Given the description of an element on the screen output the (x, y) to click on. 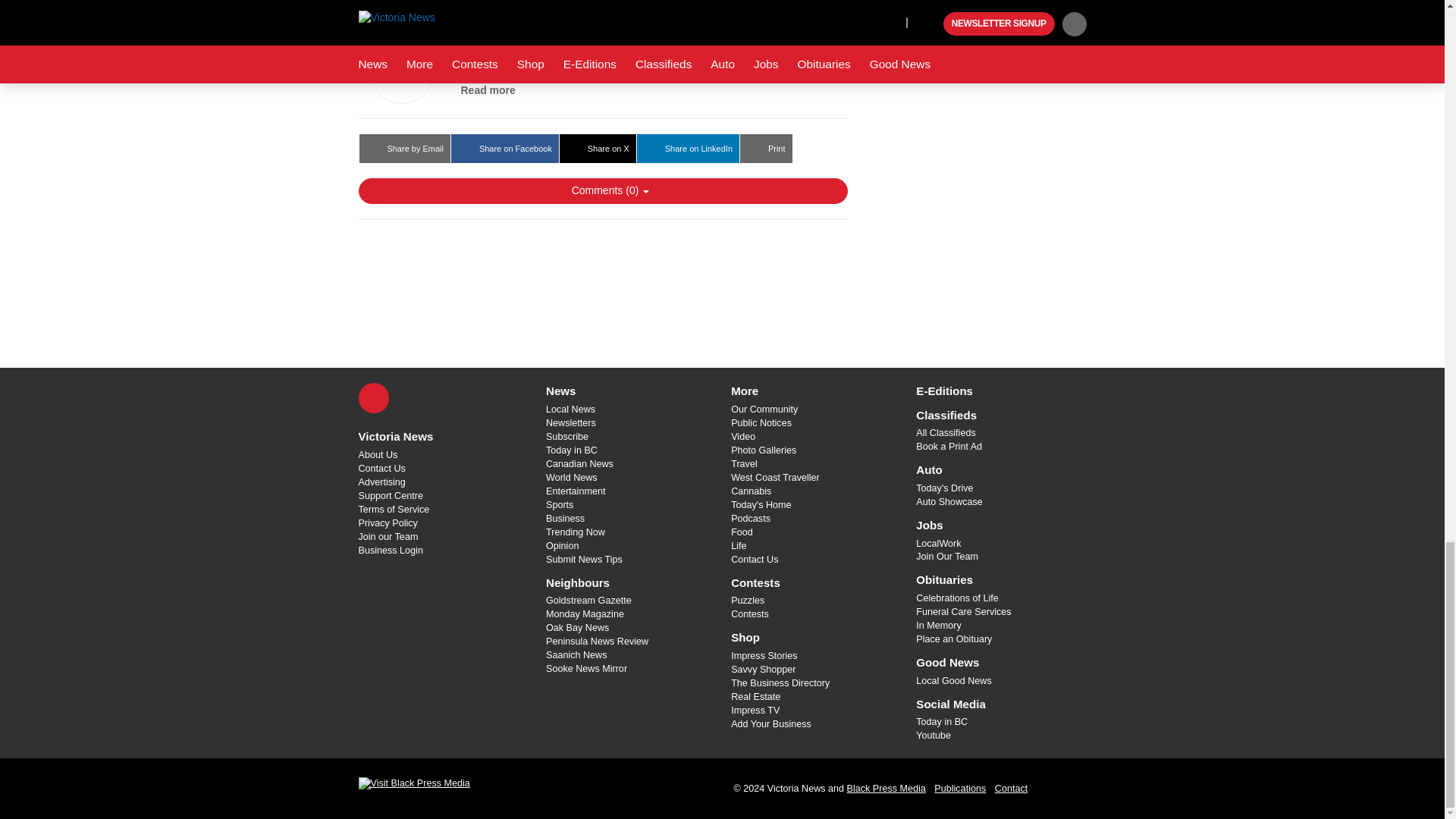
Show Comments (602, 190)
X (373, 398)
